Given the description of an element on the screen output the (x, y) to click on. 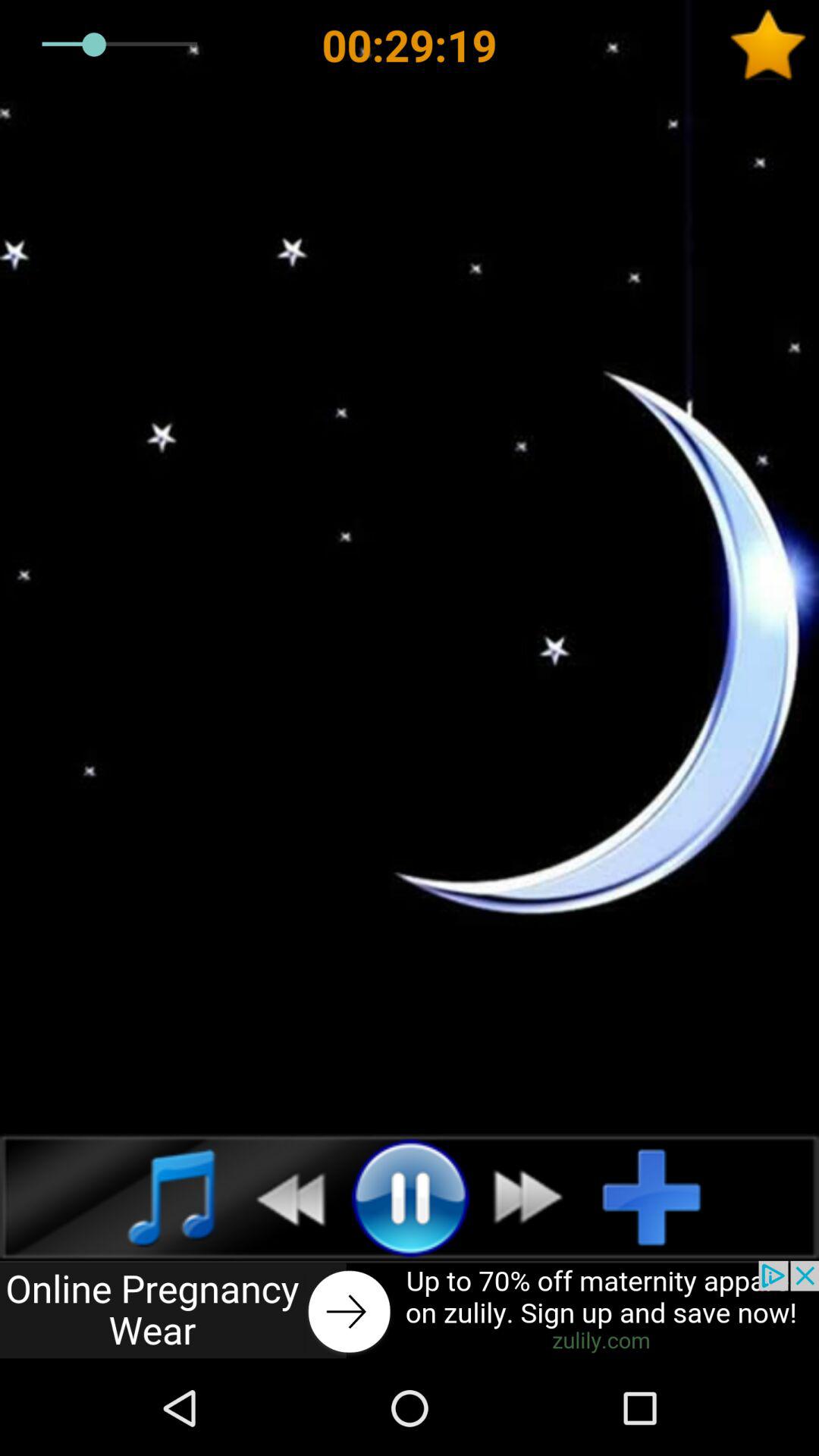
pause button (409, 1196)
